Given the description of an element on the screen output the (x, y) to click on. 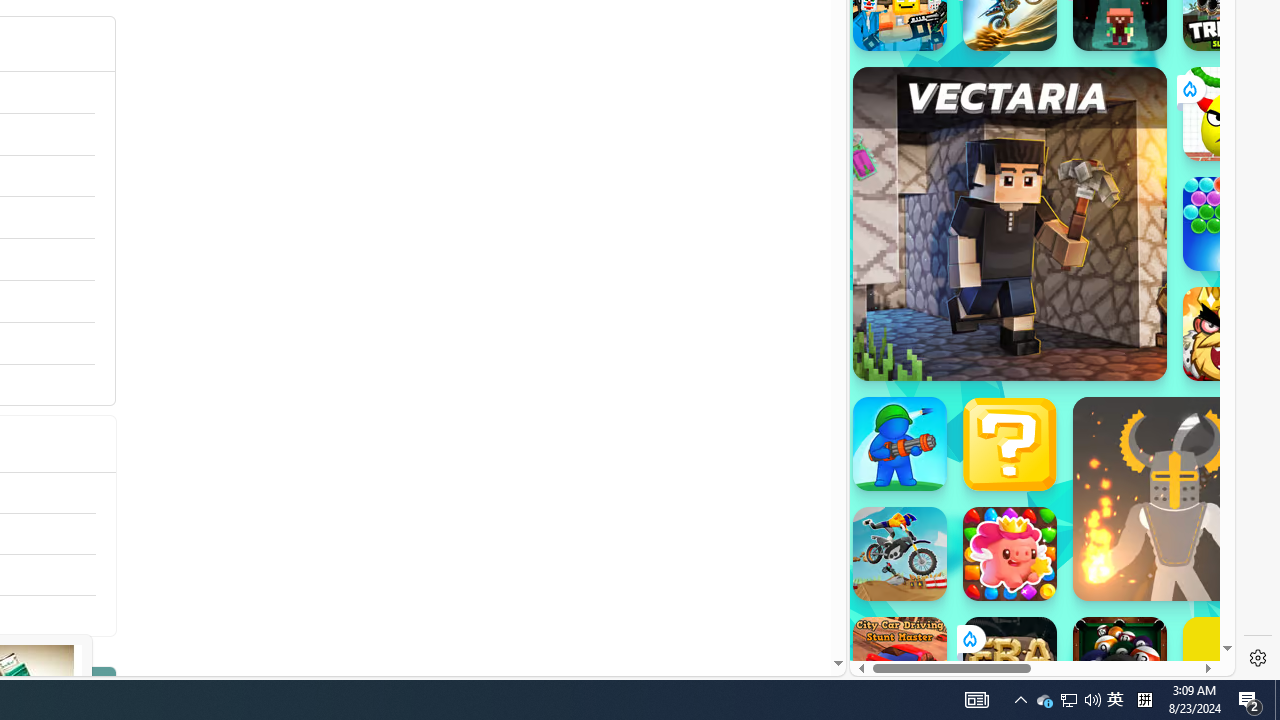
City Car Driving: Stunt Master (899, 664)
War Master (899, 443)
Vectaria.io Vectaria.io (1009, 223)
Combat Reloaded (1092, 300)
Hills of Steel (943, 300)
Like a King Like a King (1229, 333)
Search more (792, 604)
Crazy Bikes (899, 553)
Search results from poki.com (1005, 59)
8 Ball Pool With Buddies 8 Ball Pool With Buddies (1119, 664)
Era: Evolution (1009, 664)
Ragdoll Hit (1174, 498)
Poki (1034, 606)
